Given the description of an element on the screen output the (x, y) to click on. 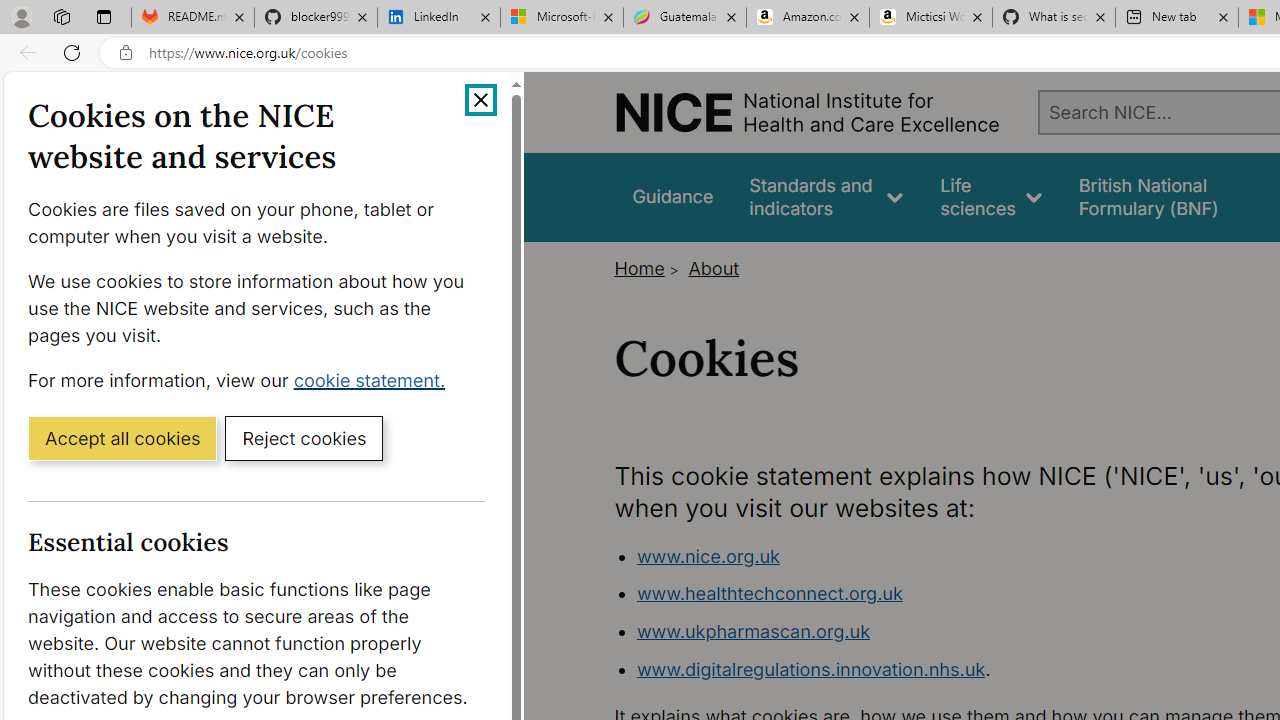
cookie statement. (Opens in a new window) (373, 379)
Accept all cookies (122, 437)
www.ukpharmascan.org.uk (753, 631)
www.healthtechconnect.org.uk (769, 593)
Home> (648, 268)
Guidance (673, 196)
